Given the description of an element on the screen output the (x, y) to click on. 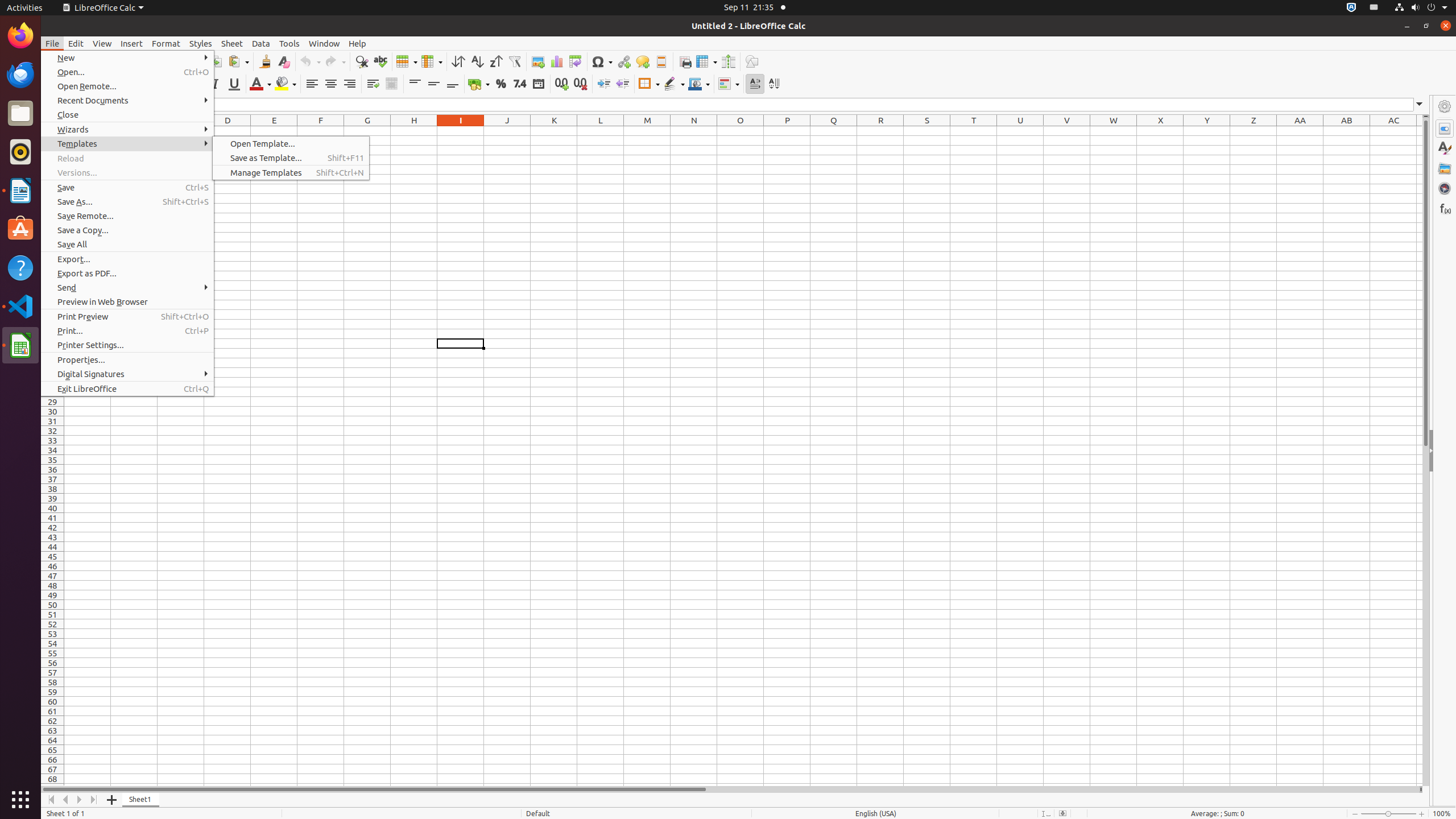
Window Element type: menu (324, 43)
Wrap Text Element type: push-button (372, 83)
S1 Element type: table-cell (926, 130)
Versions... Element type: menu-item (126, 172)
Number Element type: push-button (519, 83)
